Given the description of an element on the screen output the (x, y) to click on. 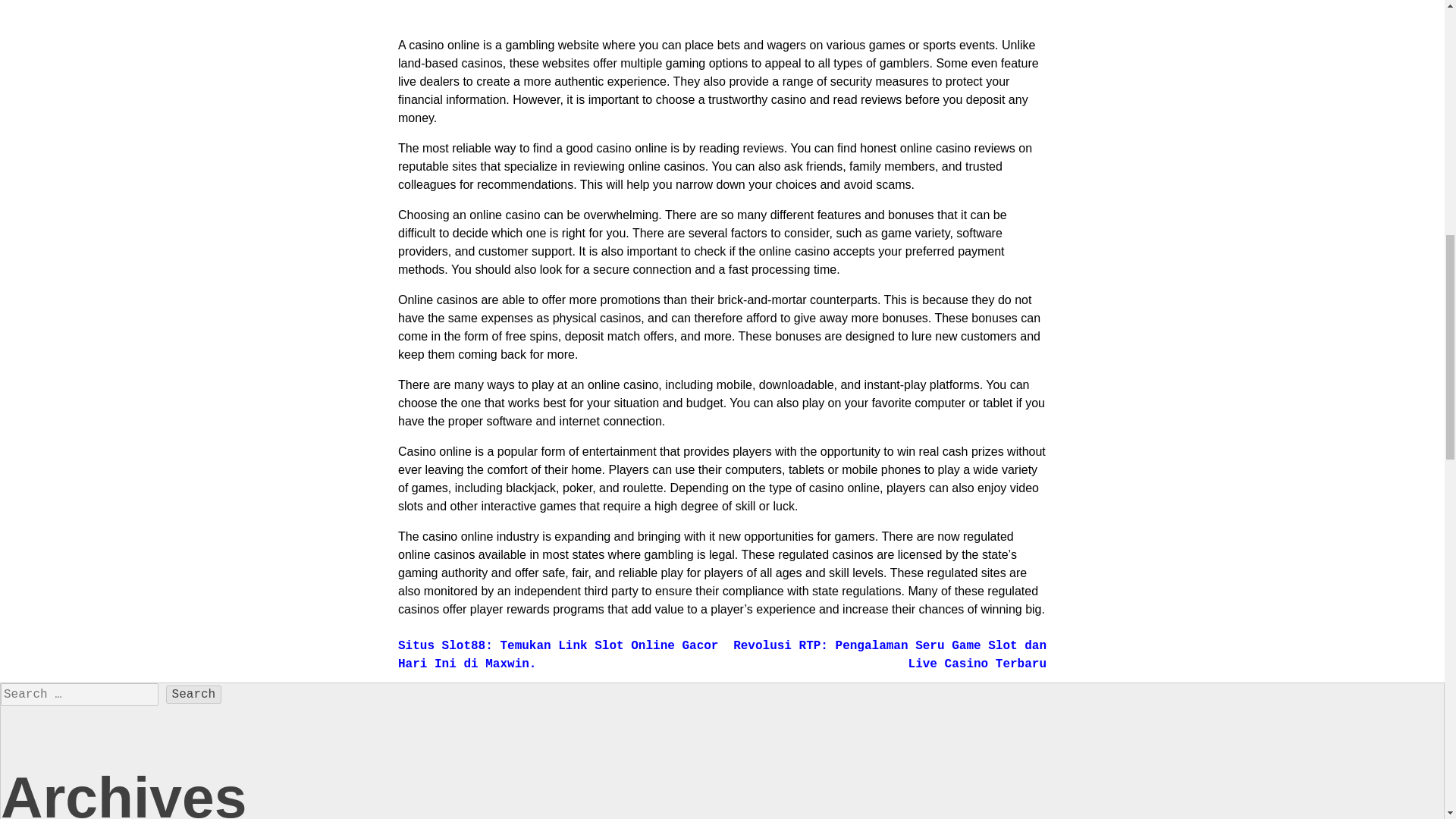
Search (193, 694)
Search (193, 694)
Search (193, 694)
